Given the description of an element on the screen output the (x, y) to click on. 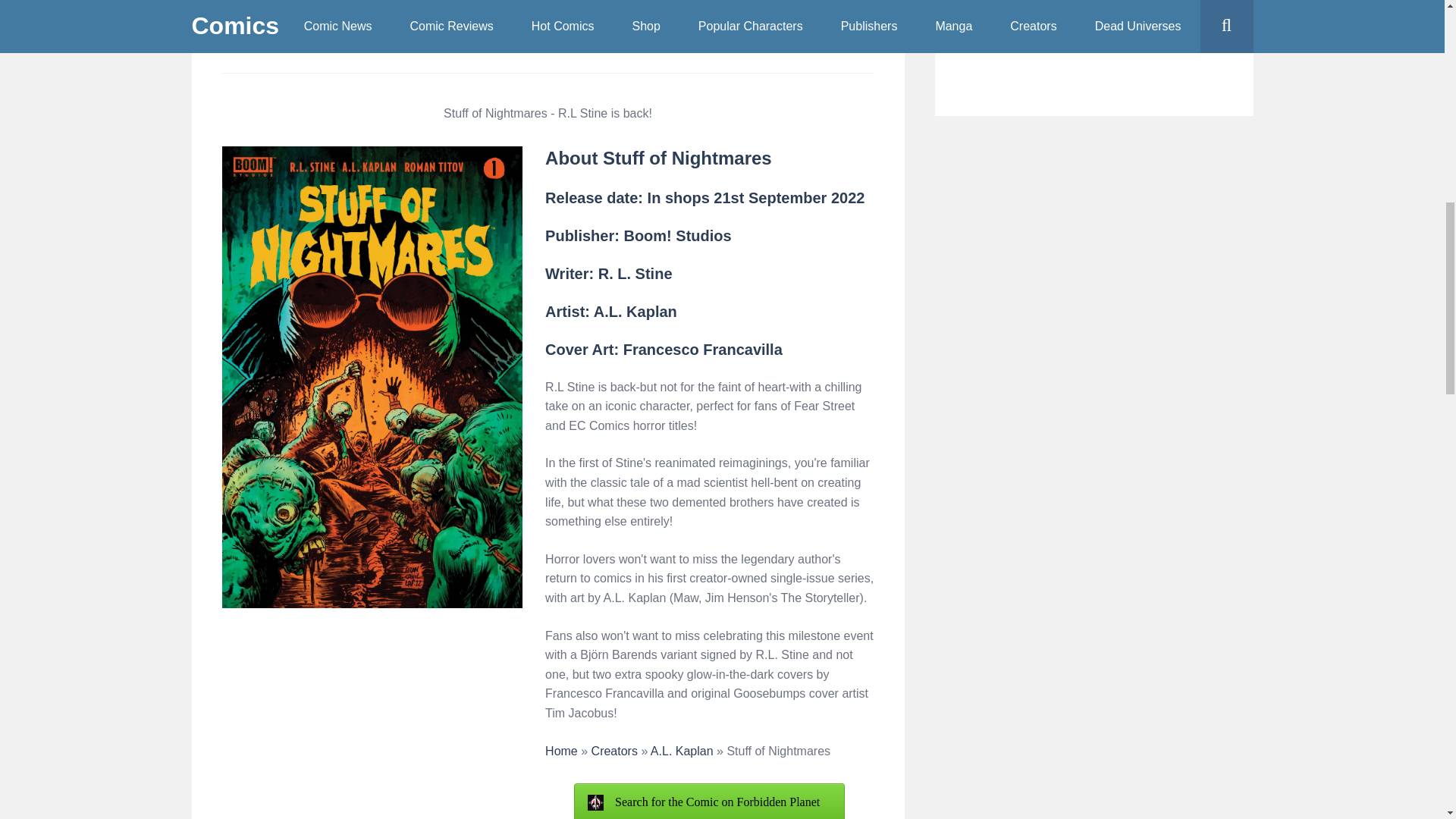
Home (561, 750)
A.L. Kaplan (681, 750)
Boom! Studios (676, 235)
Home (561, 750)
Creators (614, 750)
Search for the Comic on Forbidden Planet (708, 800)
Creators (614, 750)
A.L. Kaplan (681, 750)
